Given the description of an element on the screen output the (x, y) to click on. 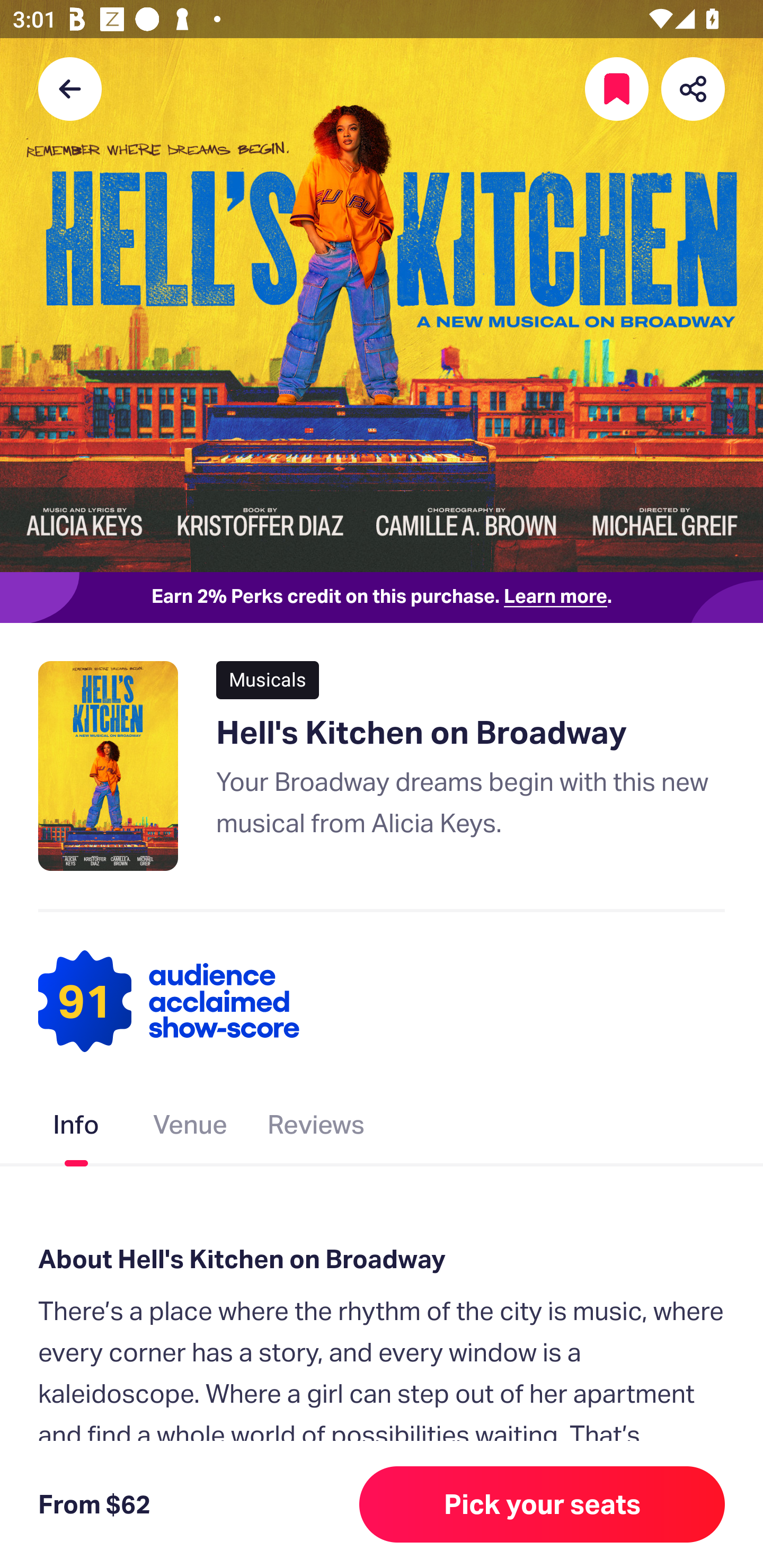
Earn 2% Perks credit on this purchase. Learn more. (381, 597)
Venue (190, 1127)
Reviews (315, 1127)
About Hell's Kitchen on Broadway (381, 1259)
Pick your seats (541, 1504)
